Given the description of an element on the screen output the (x, y) to click on. 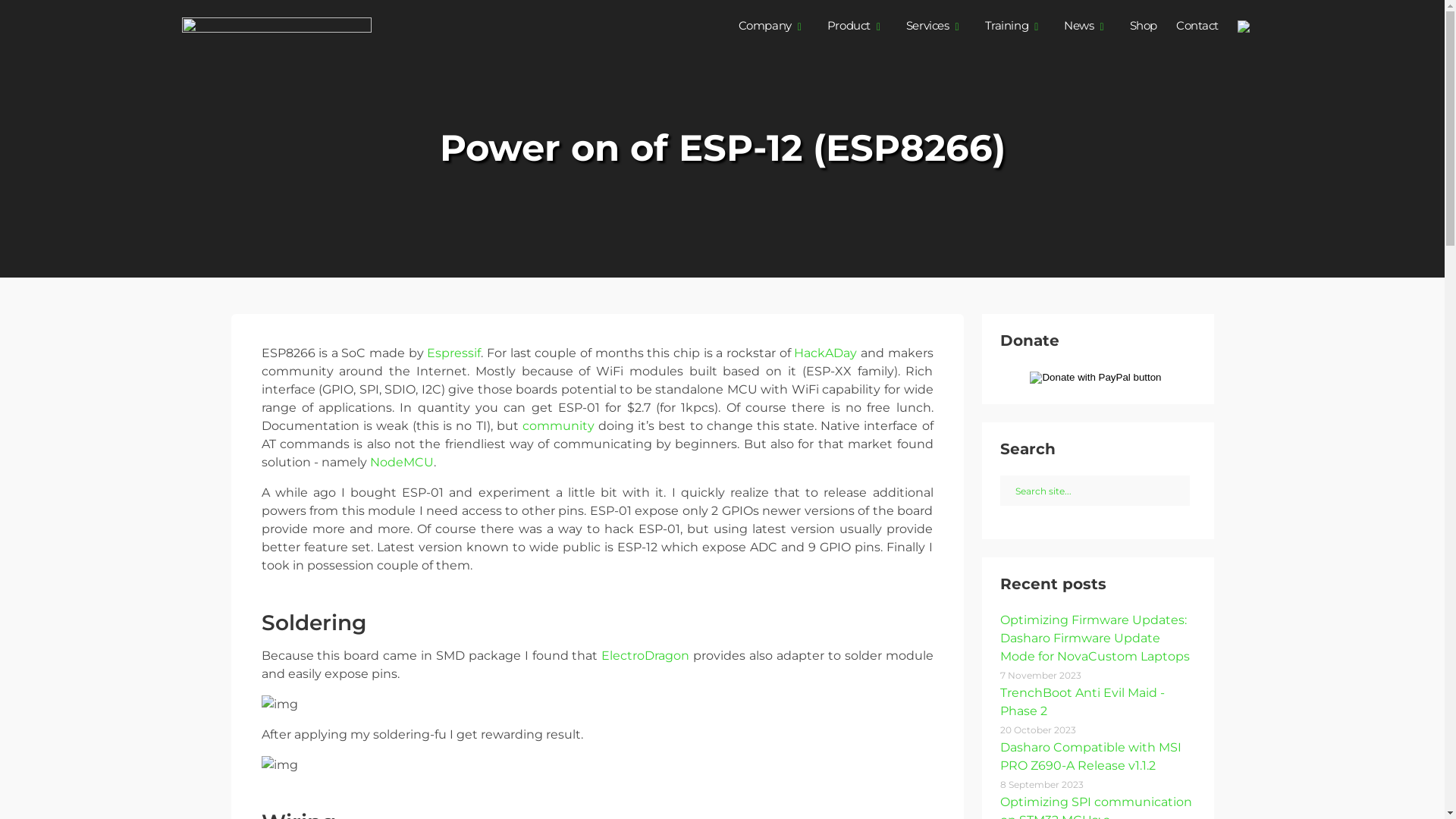
Dasharo Compatible with MSI PRO Z690-A Release v1.1.2 Element type: text (1089, 756)
TrenchBoot Anti Evil Maid - Phase 2 Element type: text (1081, 701)
Product Element type: text (848, 26)
Services Element type: text (927, 26)
PayPal - The safer, easier way to pay online! Element type: hover (1095, 377)
Shop Element type: text (1143, 26)
ElectroDragon Element type: text (645, 655)
HackADay Element type: text (824, 352)
Contact Element type: text (1197, 26)
Espressif Element type: text (453, 352)
NodeMCU Element type: text (401, 462)
Company Element type: text (764, 26)
Training Element type: text (1007, 26)
News Element type: text (1078, 26)
community Element type: text (558, 425)
